Given the description of an element on the screen output the (x, y) to click on. 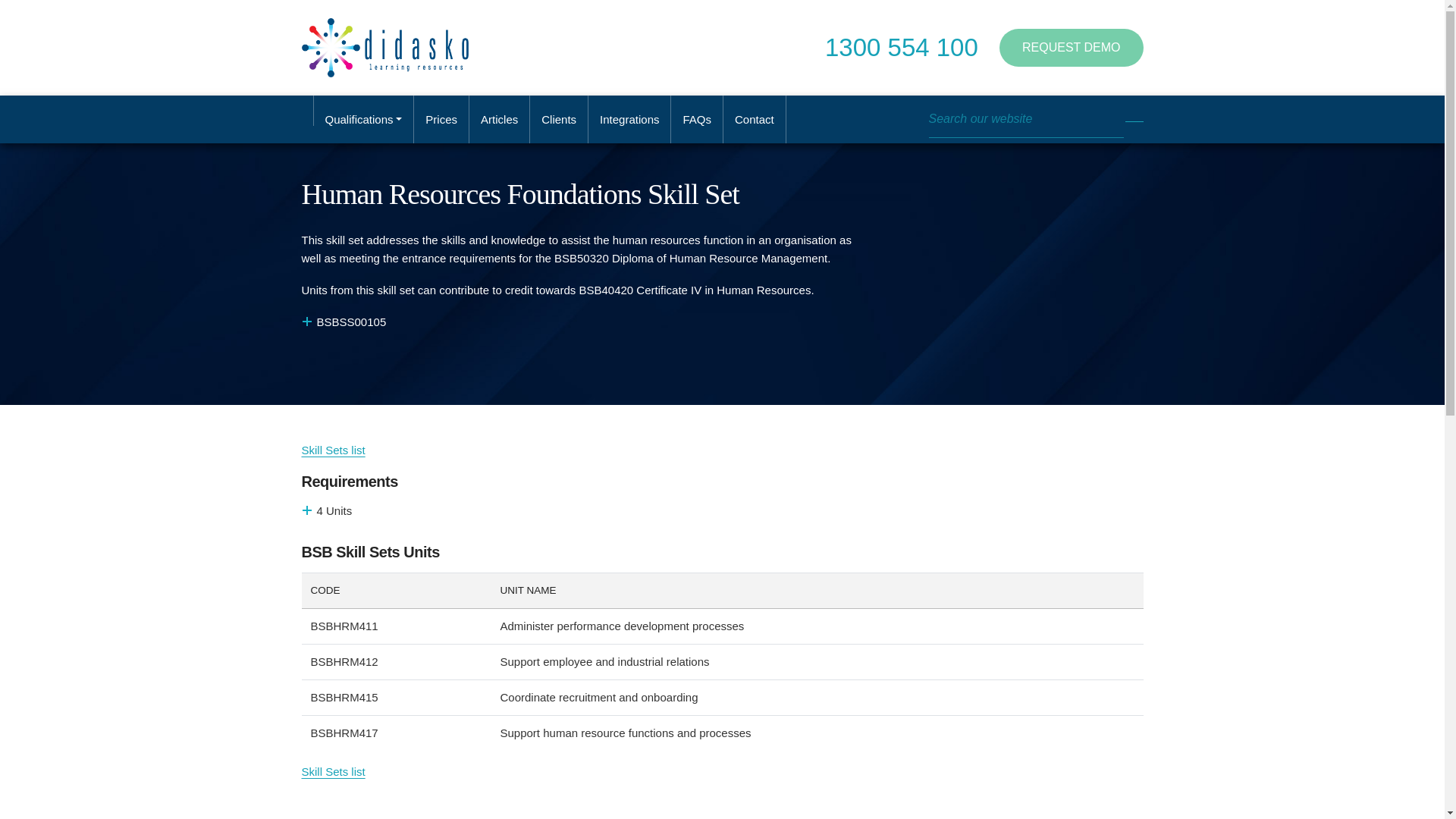
Request a demo (1070, 46)
REQUEST DEMO (1070, 47)
Integrations (629, 119)
Skill Sets list (333, 449)
Prices (440, 119)
Qualifications (364, 119)
Articles (498, 119)
Contact (754, 119)
Skill Sets list (333, 771)
REQUEST DEMO (1070, 46)
1300 554 100 (901, 47)
Clients (558, 119)
FAQs (697, 119)
